Given the description of an element on the screen output the (x, y) to click on. 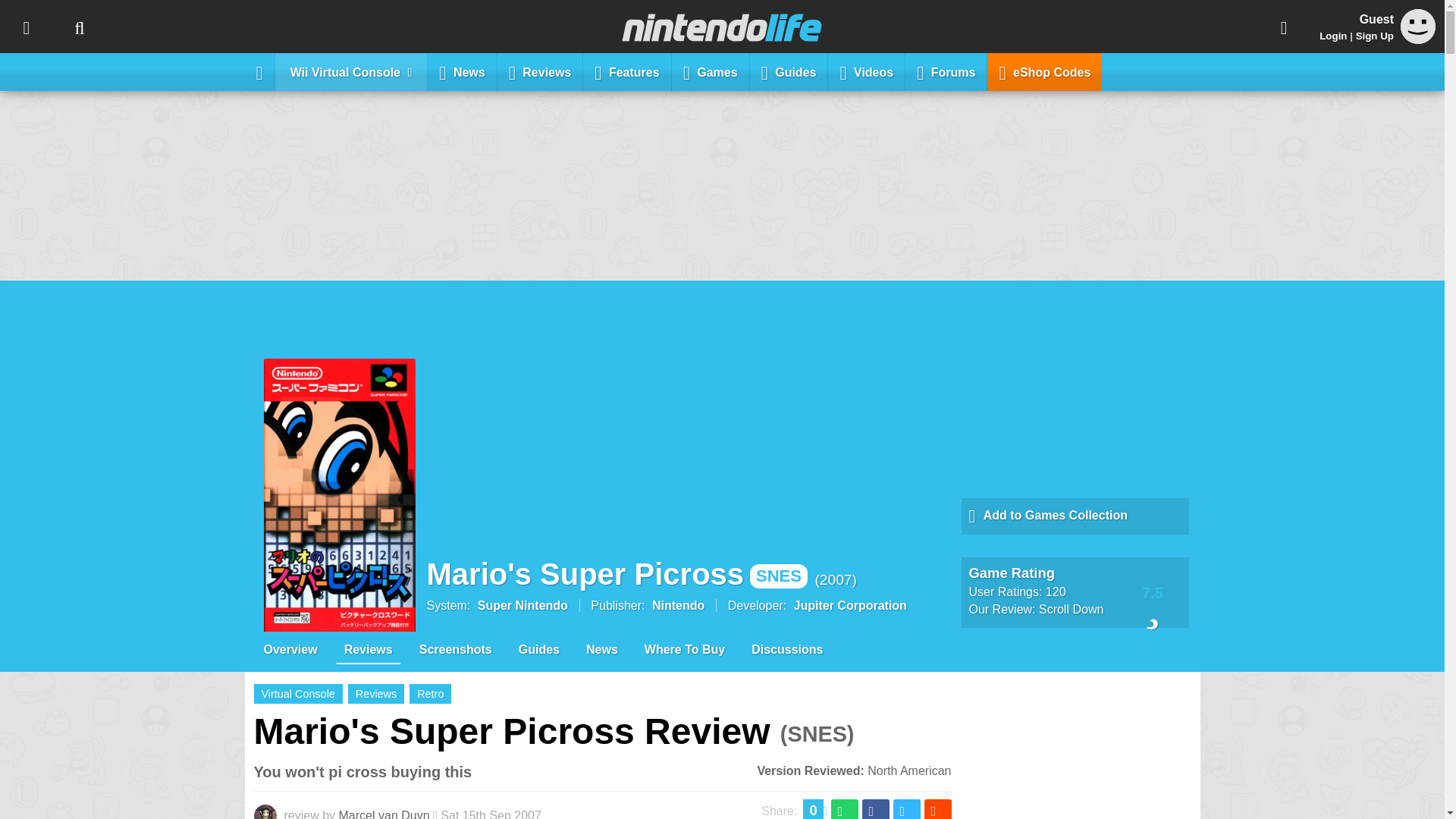
Reviews (540, 71)
eShop Codes (1044, 71)
Login (1332, 35)
Nintendo Life (721, 27)
Search (79, 26)
Guest (1417, 26)
Nintendo Life (721, 27)
Sign Up (1374, 35)
Share This Page (1283, 26)
Guides (788, 71)
